Given the description of an element on the screen output the (x, y) to click on. 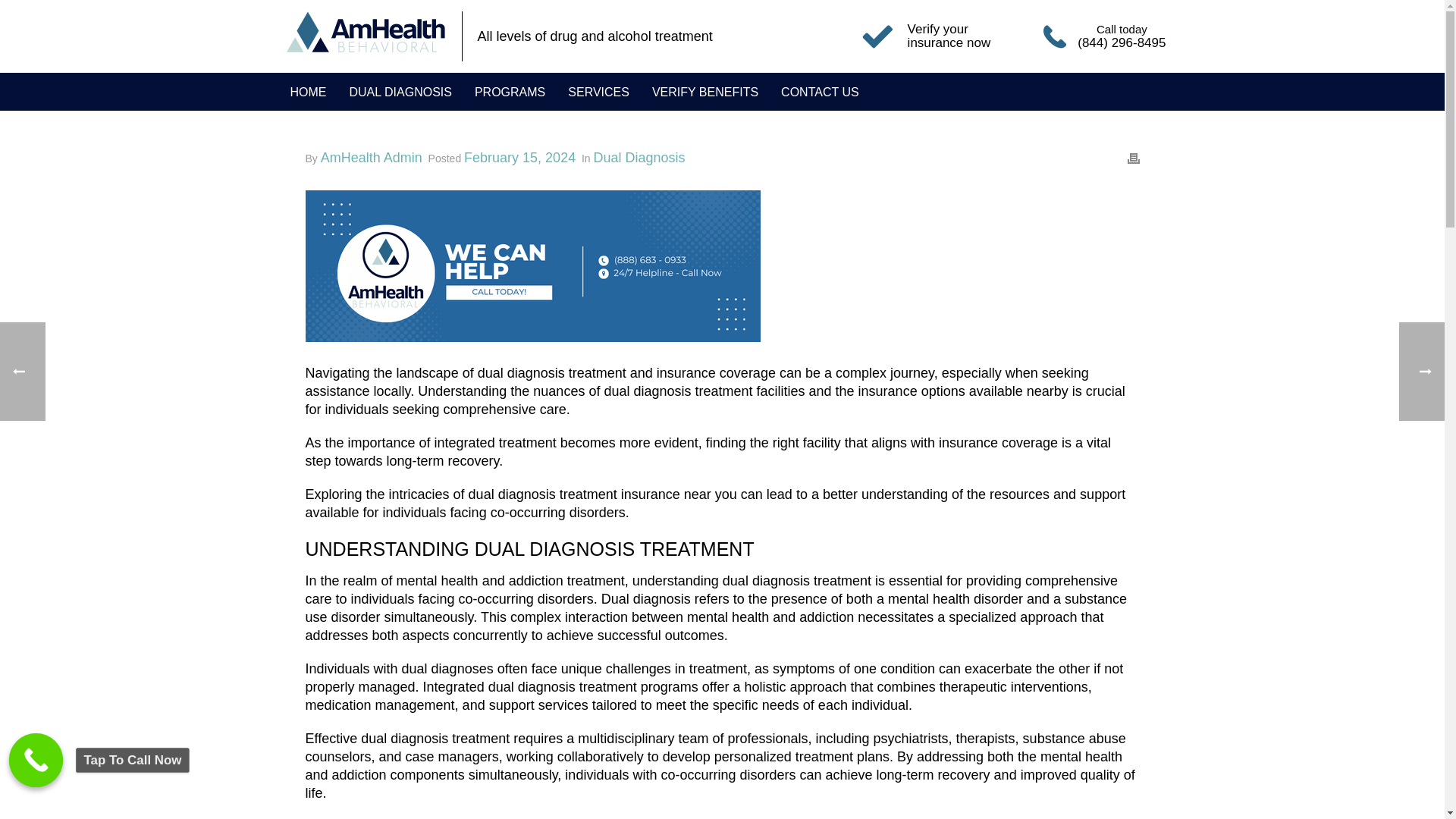
Posts by AmHealth Admin (371, 157)
PROGRAMS (509, 92)
SERVICES (597, 92)
February 15, 2024 (519, 157)
VERIFY BENEFITS (705, 92)
HOME (307, 92)
Dual Diagnosis (639, 157)
CONTACT US (819, 92)
AmHealth Admin (371, 157)
DUAL DIAGNOSIS (400, 92)
